Given the description of an element on the screen output the (x, y) to click on. 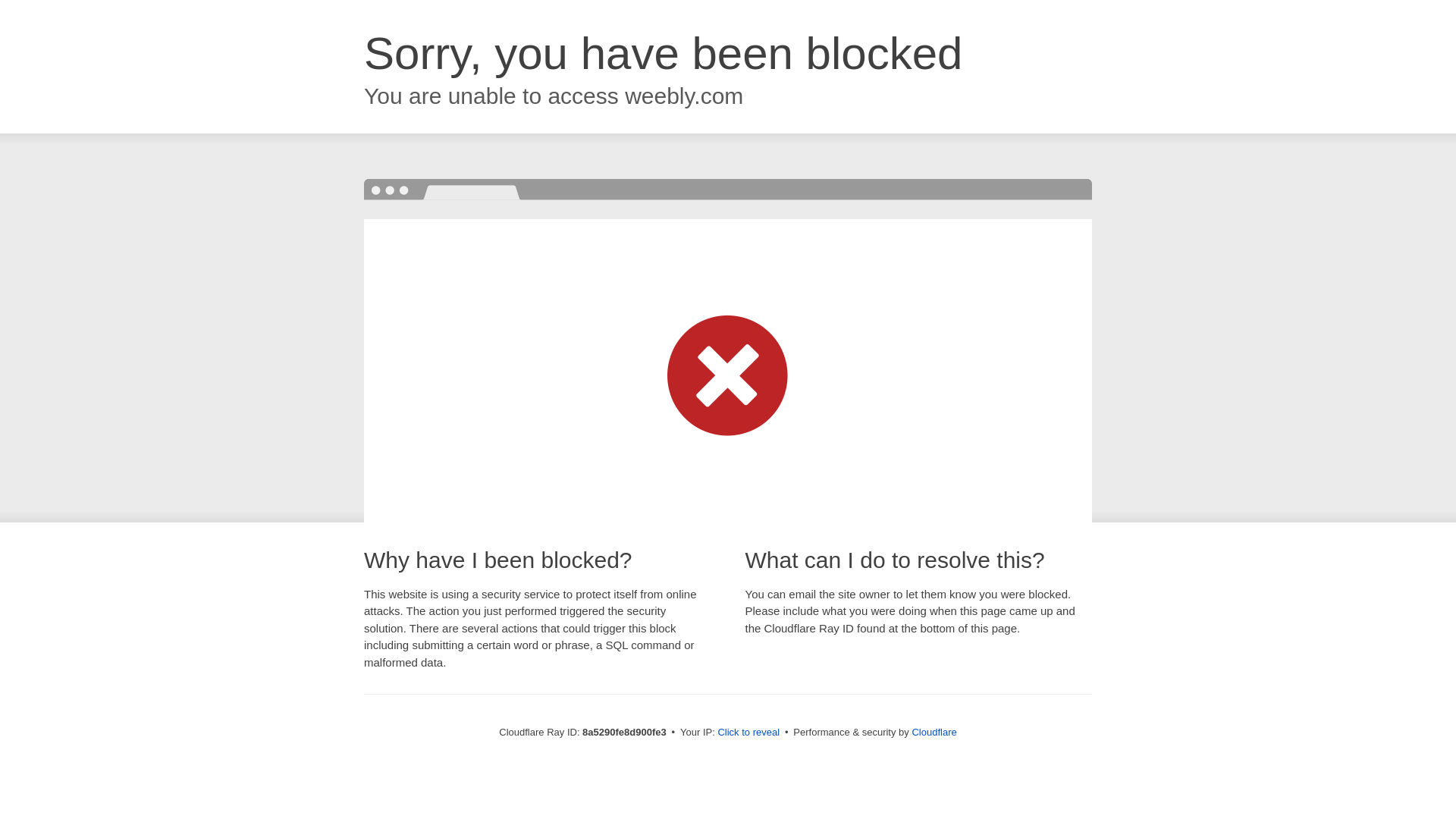
Cloudflare (933, 731)
Click to reveal (747, 732)
